Given the description of an element on the screen output the (x, y) to click on. 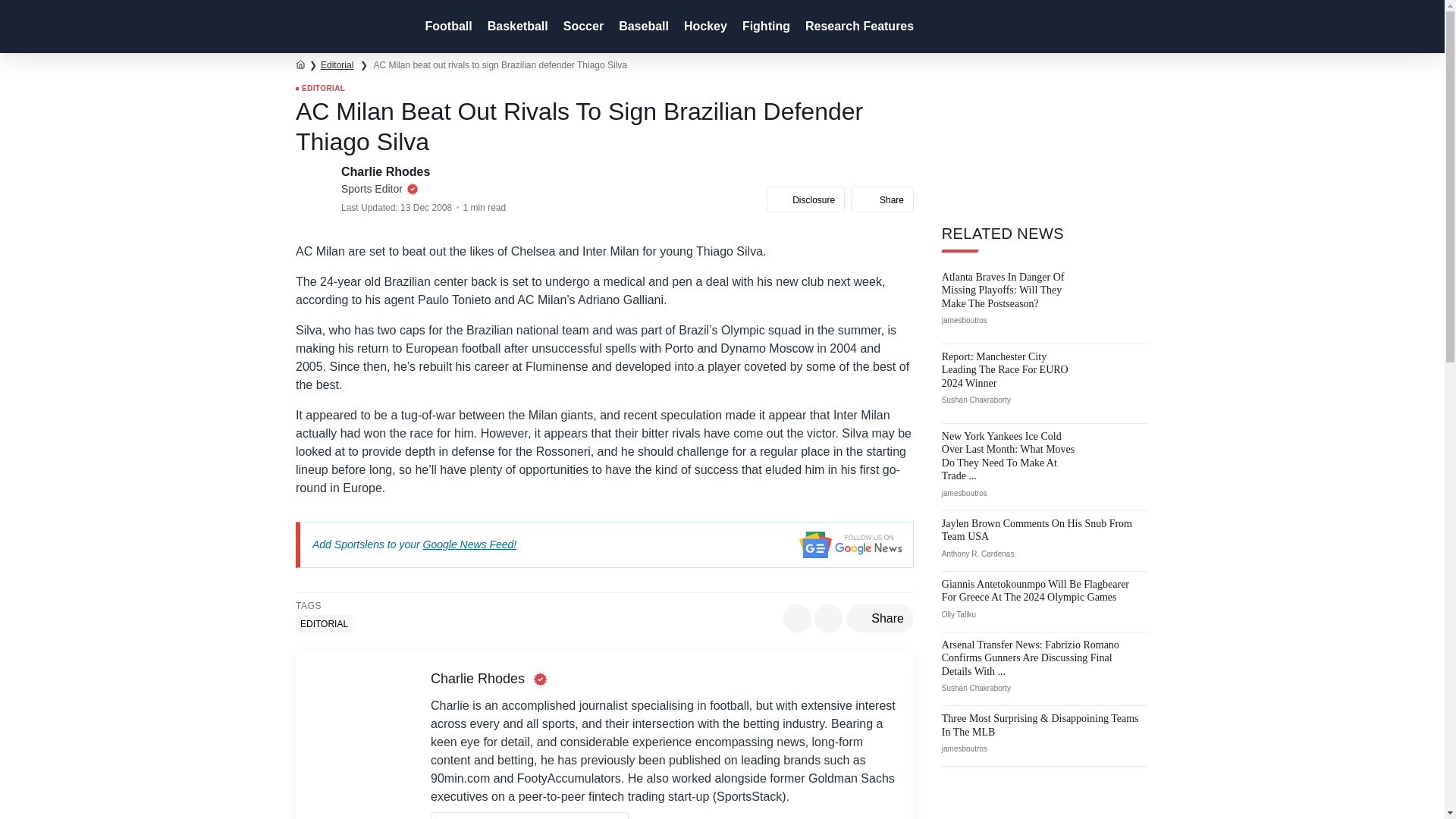
Soccer (582, 26)
View All Posts By Charlie Rhodes (529, 815)
EDITORIAL (323, 623)
Hockey (704, 26)
Share (882, 199)
Google News Feed! (469, 544)
Research Features (858, 26)
Share (879, 617)
EDITORIAL (320, 88)
